Given the description of an element on the screen output the (x, y) to click on. 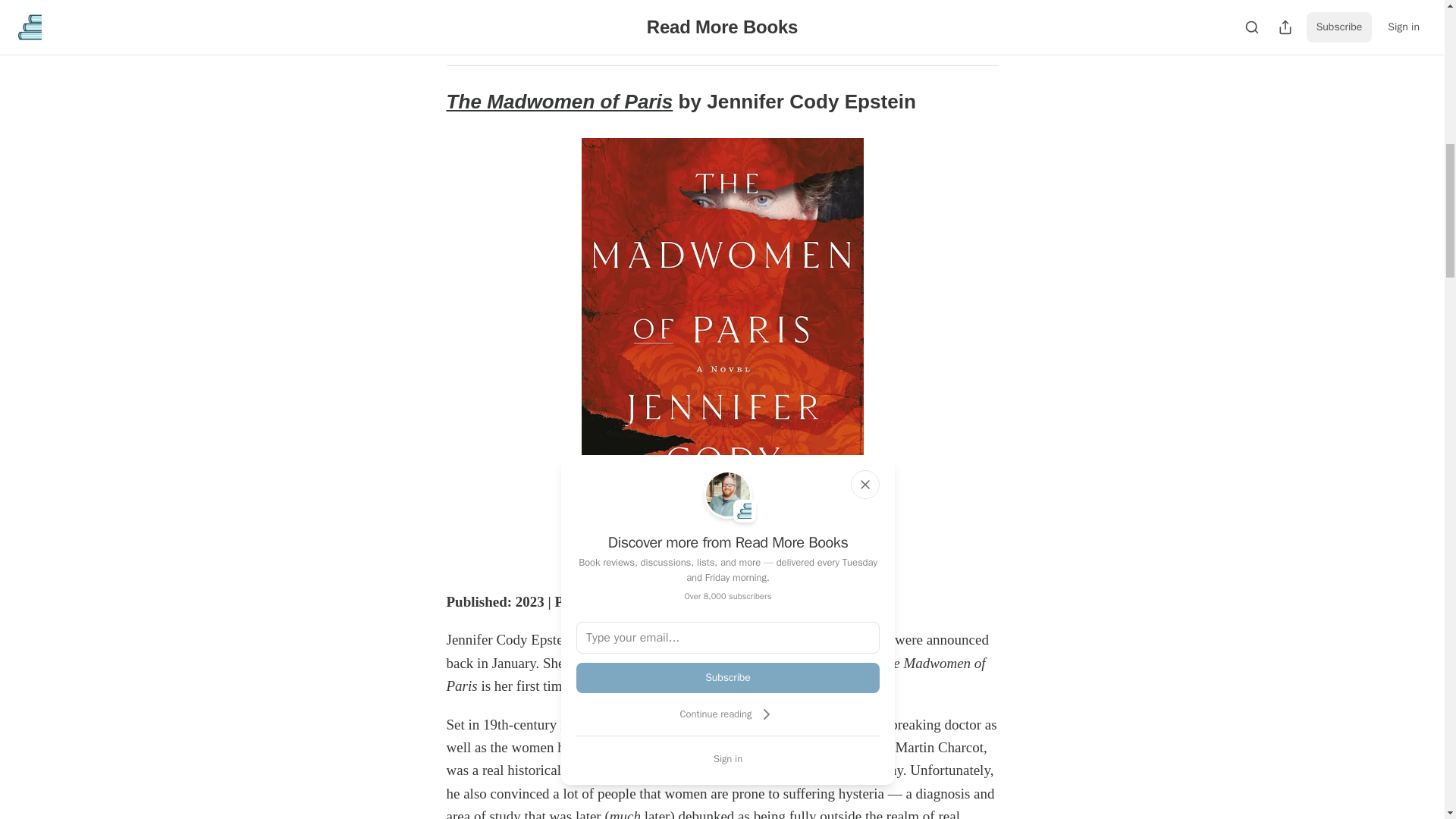
Subscribe (727, 677)
Subscribe (827, 25)
The Madwomen of Paris (558, 101)
Sign in (727, 758)
